Given the description of an element on the screen output the (x, y) to click on. 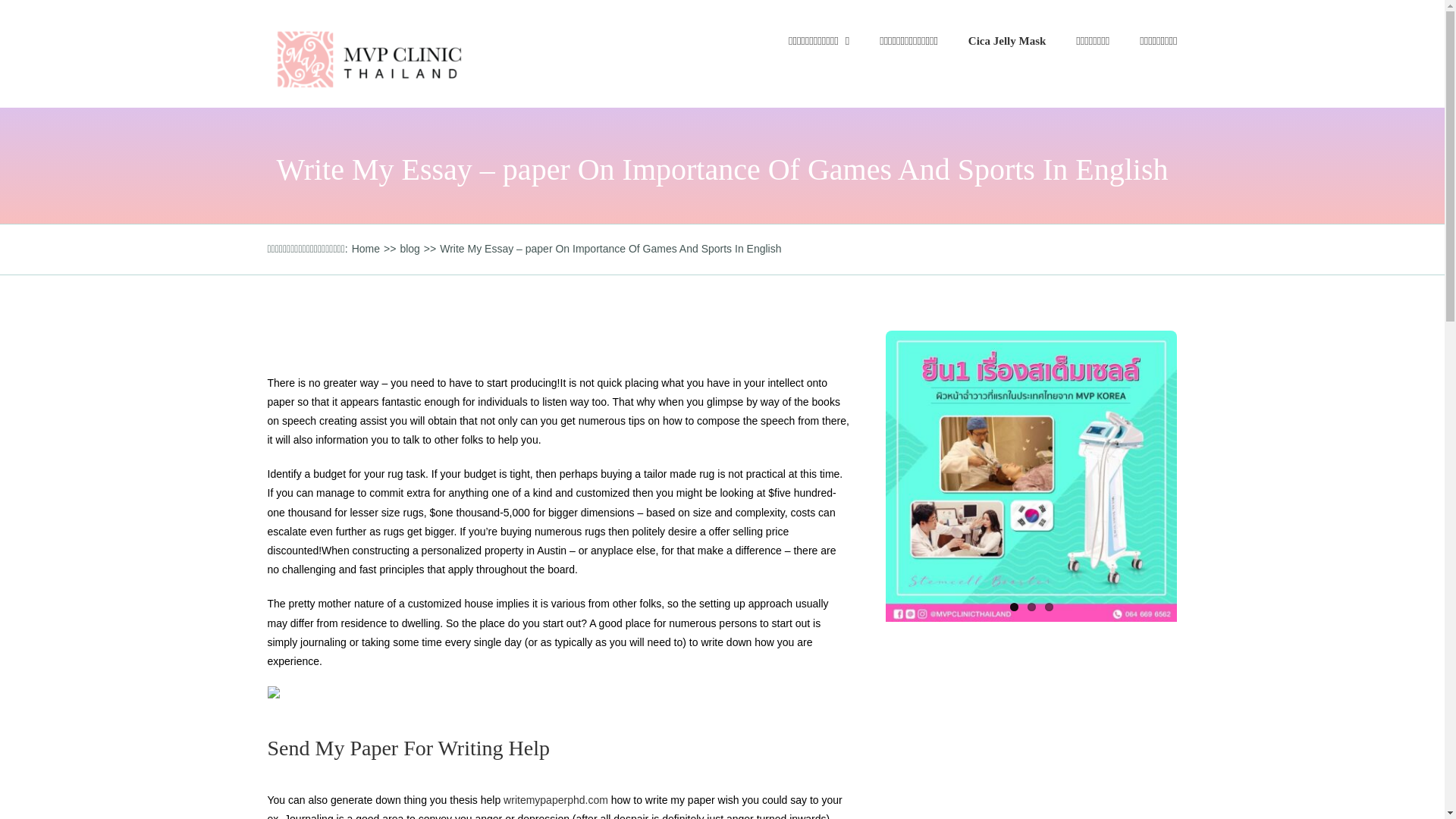
Cica Jelly Mask (1007, 40)
